Given the description of an element on the screen output the (x, y) to click on. 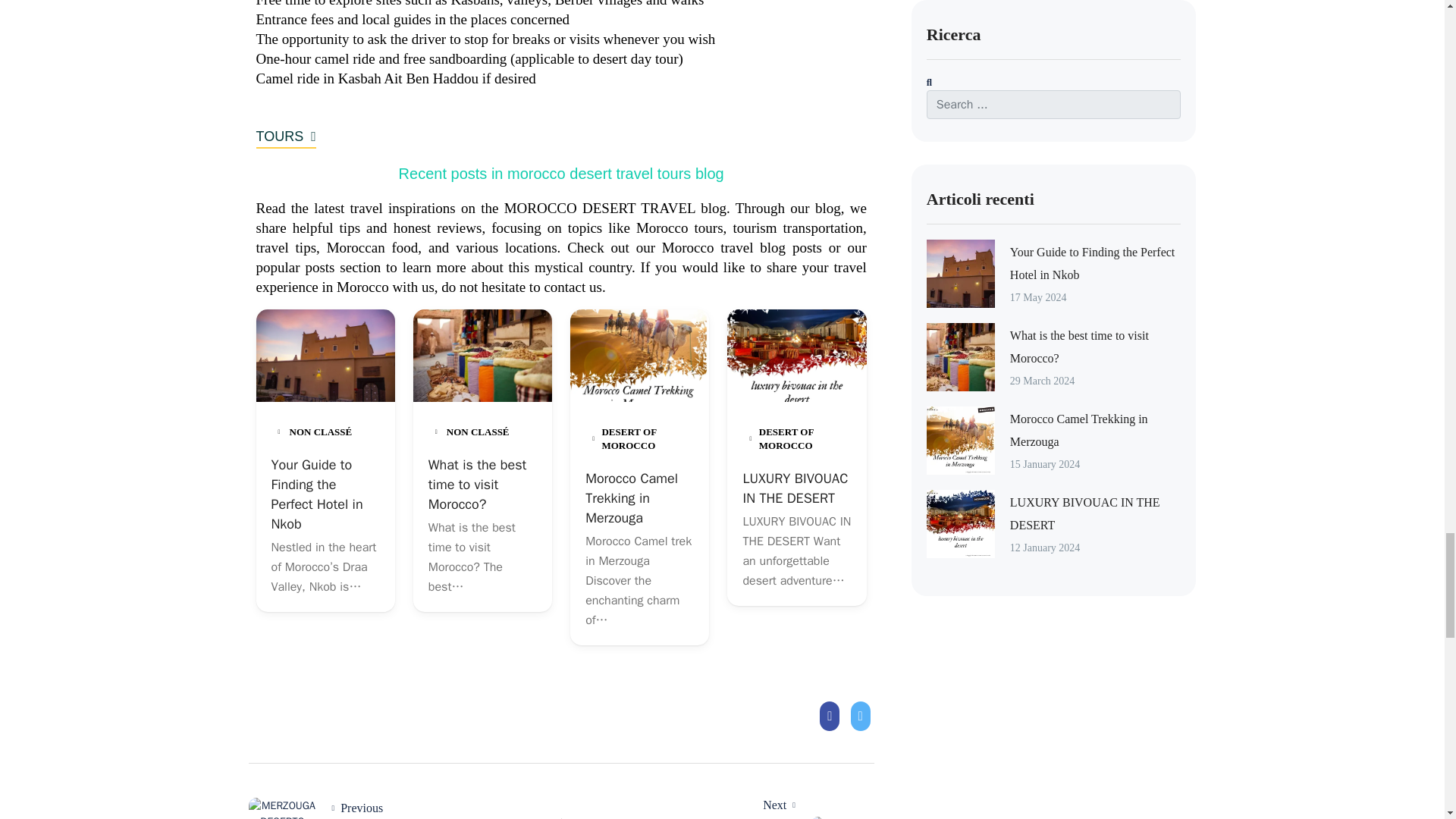
TOURS (285, 138)
Your Guide to Finding the Perfect Hotel in Nkob (316, 494)
What is the best time to visit Morocco? (476, 484)
DESERT OF MOROCCO (633, 438)
Morocco Camel Trekking in Merzouga (405, 808)
LUXURY BIVOUAC IN THE DESERT (631, 498)
DESERT OF MOROCCO (794, 488)
